Given the description of an element on the screen output the (x, y) to click on. 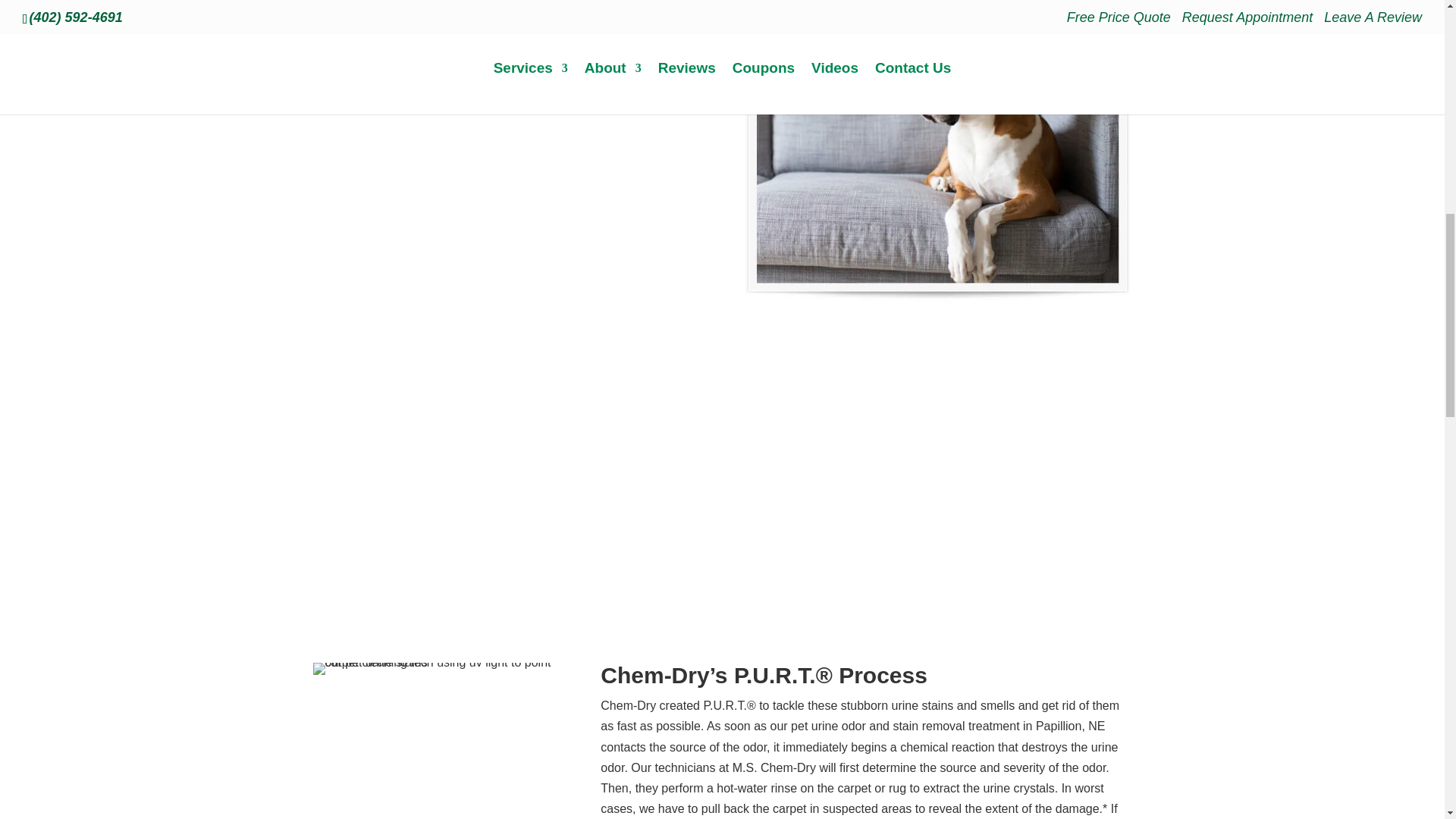
Pet-Urine-Removal-Treatment (937, 167)
